Given the description of an element on the screen output the (x, y) to click on. 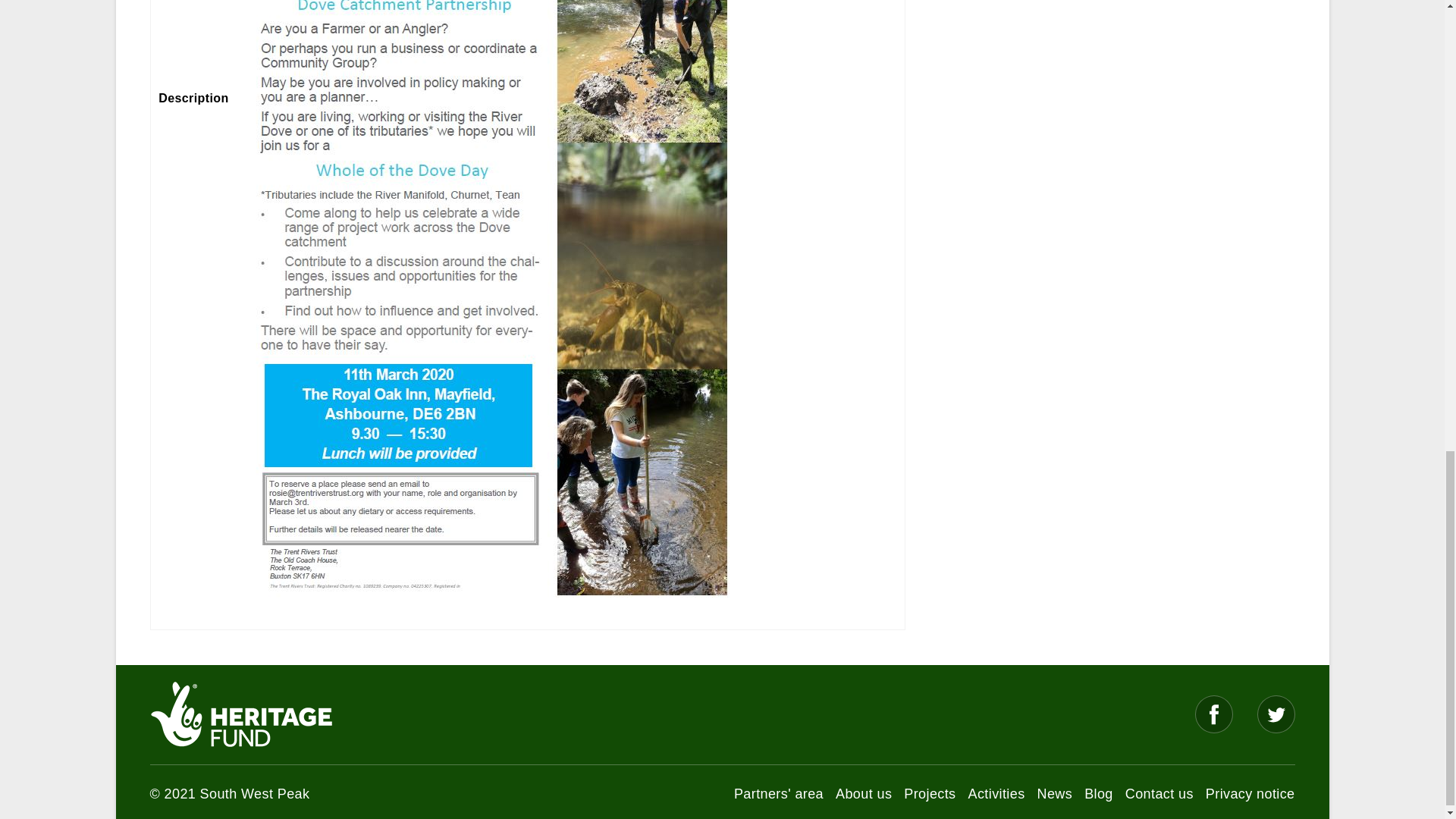
News (1054, 793)
Activities (996, 793)
Contact us (1159, 793)
Privacy notice (1250, 793)
About us (863, 793)
Partners' area (778, 793)
Projects (929, 793)
Blog (1098, 793)
